Given the description of an element on the screen output the (x, y) to click on. 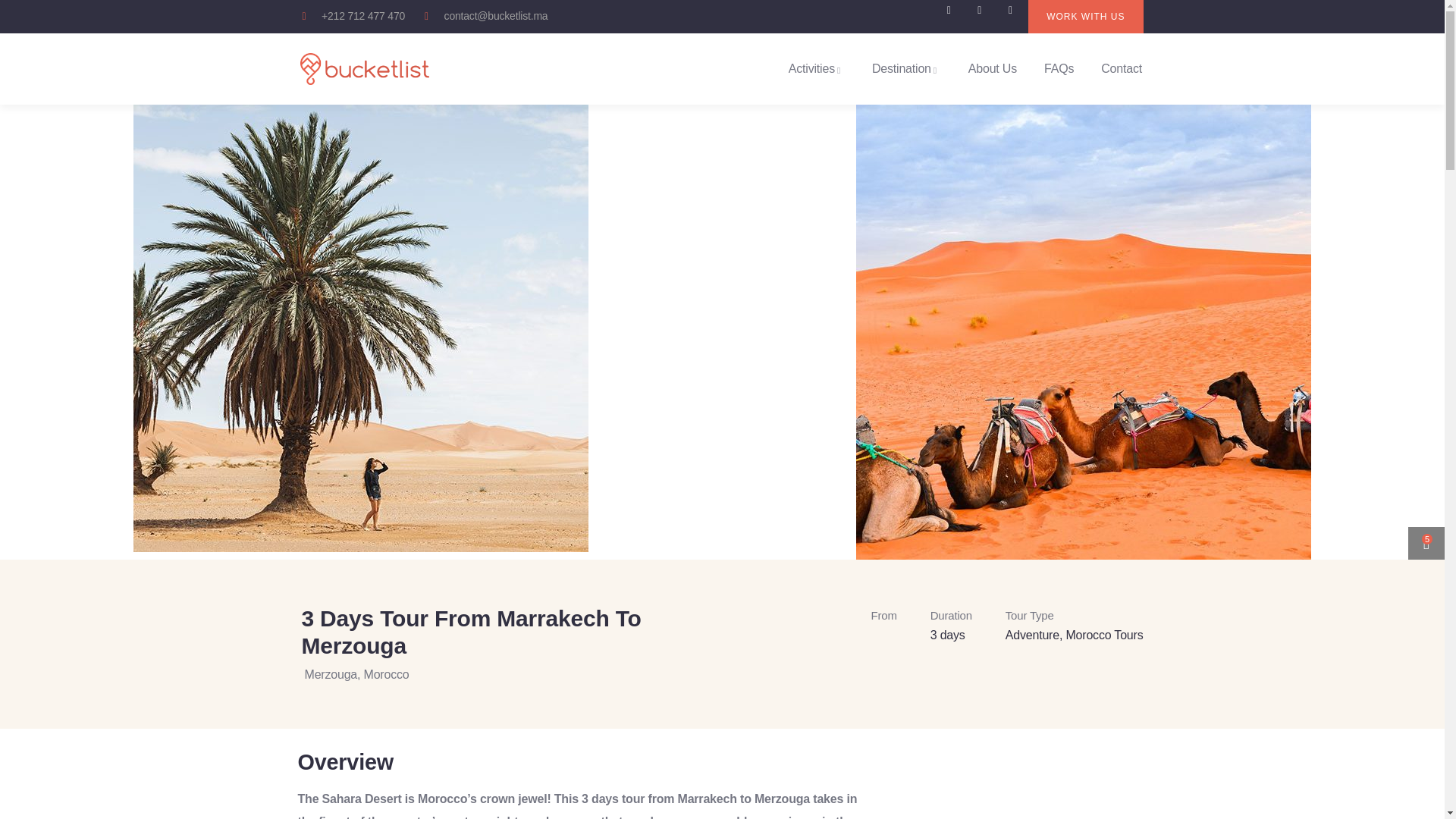
WORK WITH US (1084, 16)
Destination (906, 68)
